Given the description of an element on the screen output the (x, y) to click on. 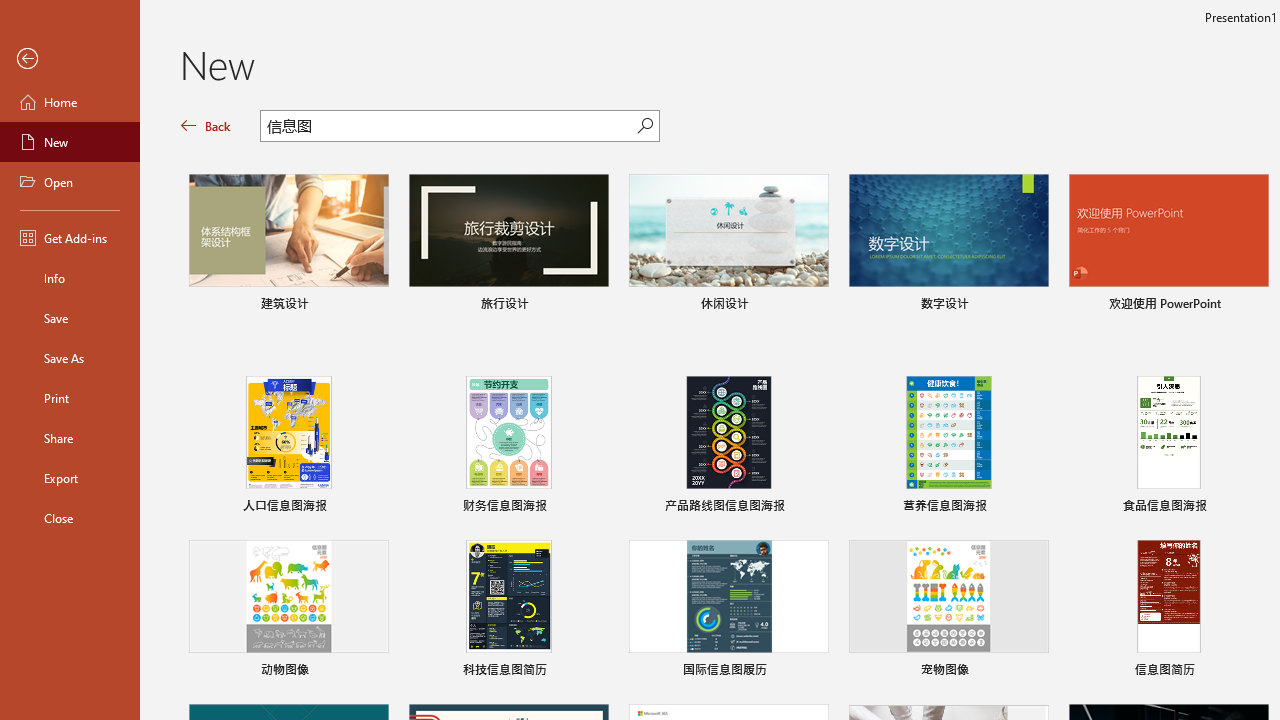
Export (69, 477)
Print (69, 398)
Info (69, 277)
Back (205, 125)
New (69, 141)
